Given the description of an element on the screen output the (x, y) to click on. 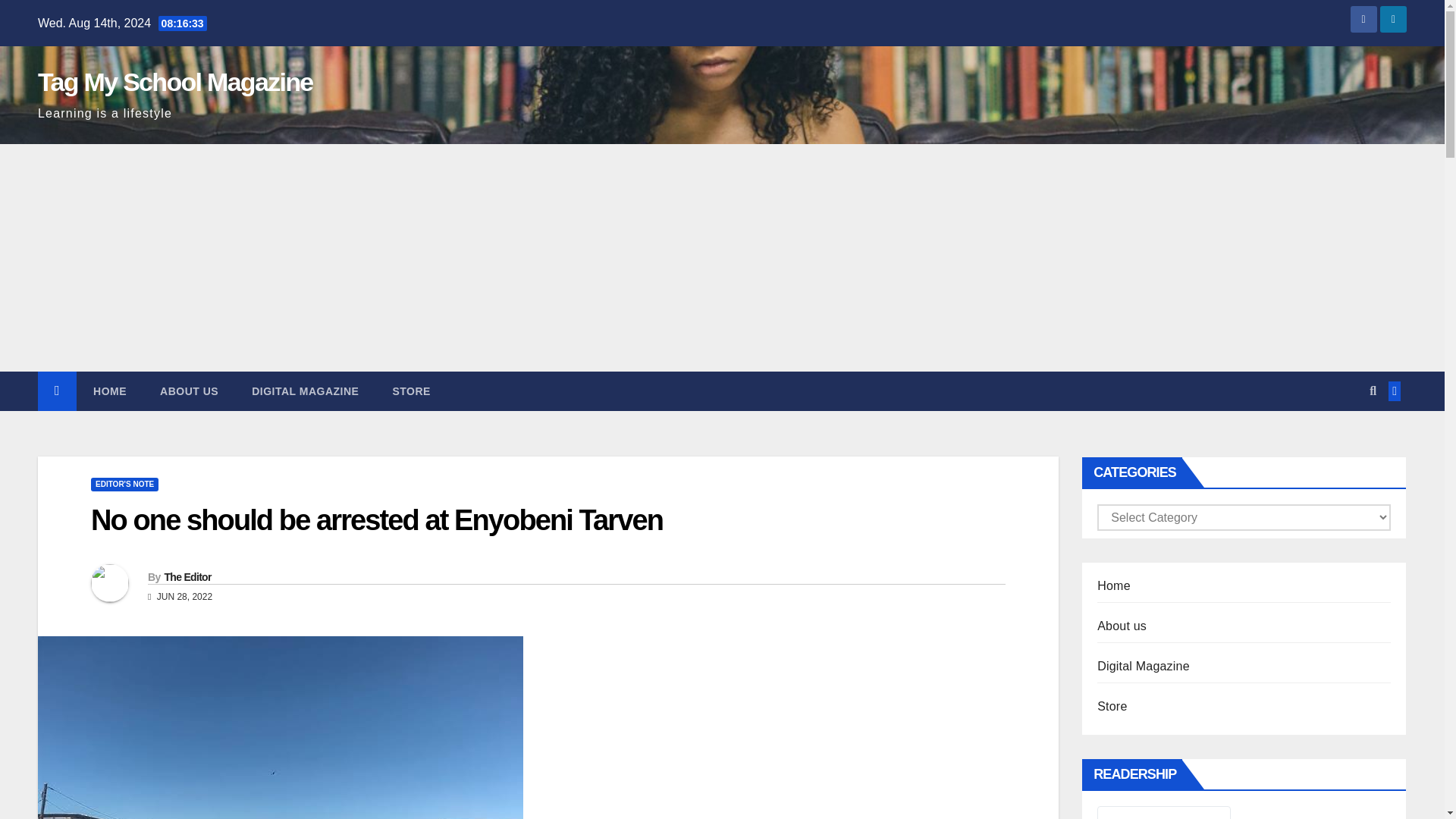
DIGITAL MAGAZINE (304, 391)
Store (410, 391)
About us (188, 391)
The Editor (187, 576)
Permalink to: No one should be arrested at Enyobeni Tarven (376, 520)
ABOUT US (188, 391)
Digital Magazine (304, 391)
Home (109, 391)
Tag My School Magazine (175, 81)
